Given the description of an element on the screen output the (x, y) to click on. 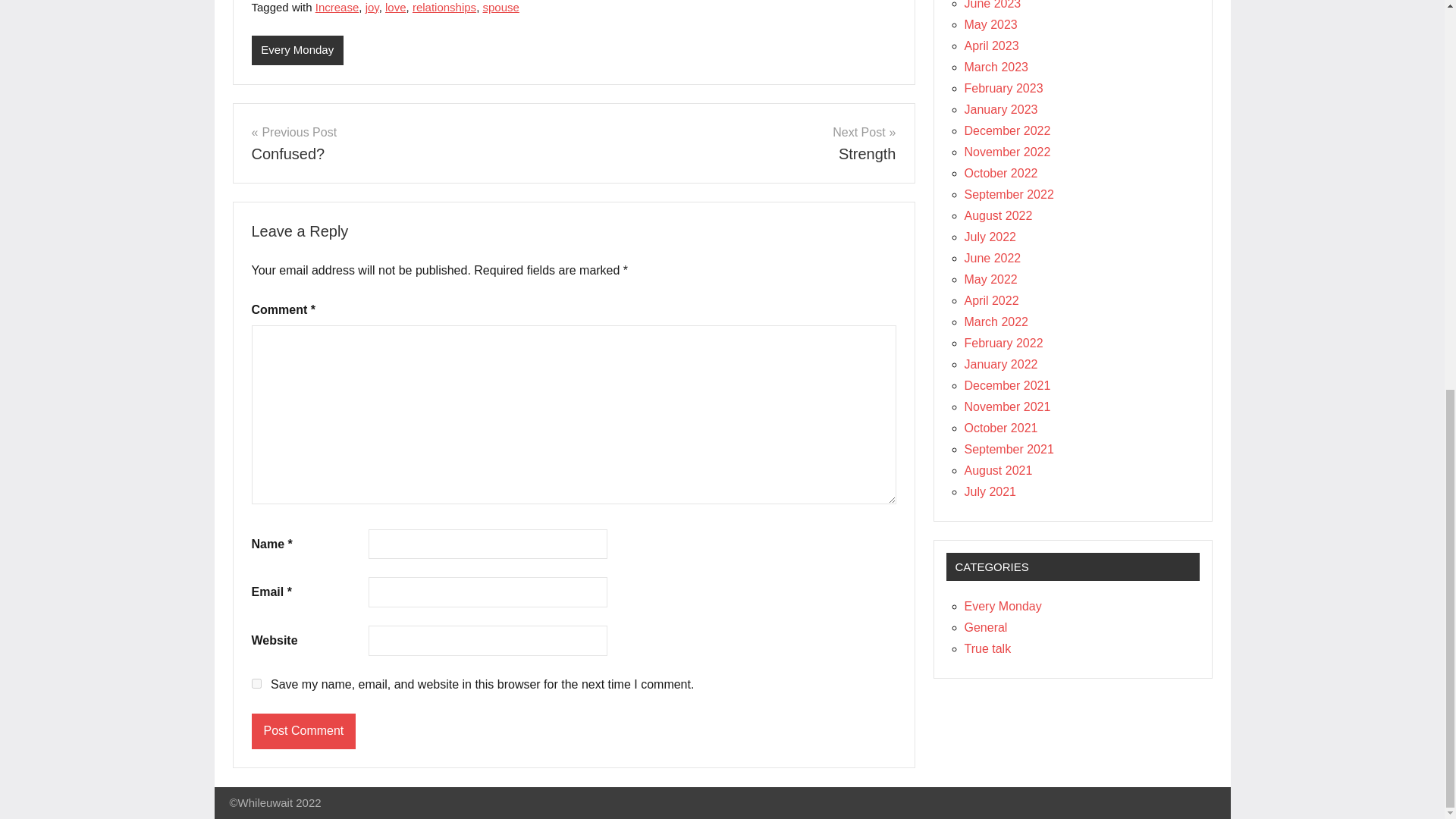
Post Comment (303, 731)
spouse (499, 6)
love (395, 6)
relationships (444, 6)
Every Monday (297, 50)
Post Comment (303, 731)
joy (371, 6)
May 2023 (990, 24)
March 2023 (996, 66)
June 2023 (406, 143)
yes (740, 143)
April 2023 (992, 4)
Increase (256, 683)
